Given the description of an element on the screen output the (x, y) to click on. 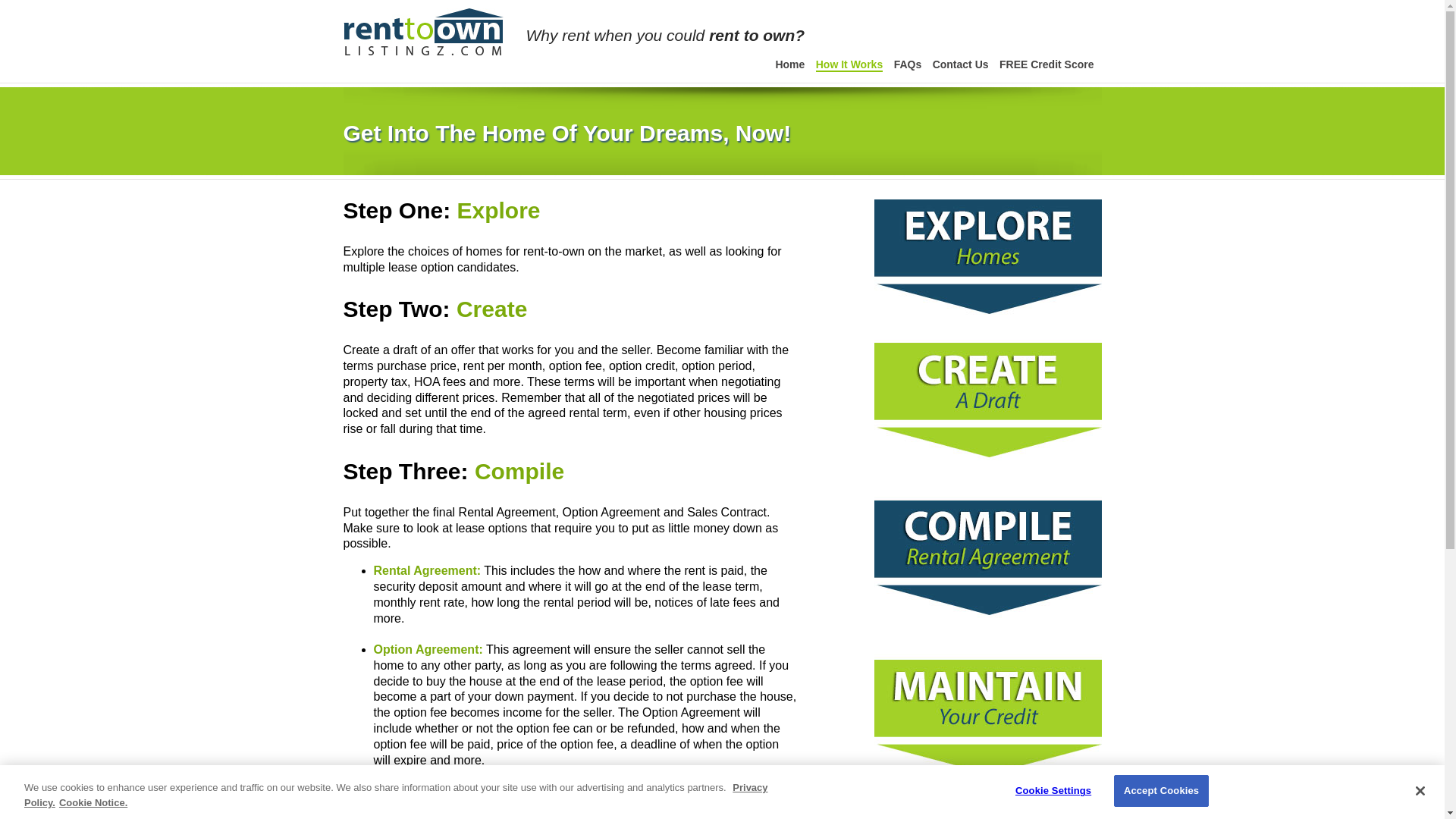
Cookie Notice. (93, 802)
get into the home of your dreams now! (721, 132)
step three (569, 471)
Accept Cookies (1160, 790)
Contact Us (960, 64)
FAQs (907, 64)
FREE Credit Score (1045, 64)
Home (789, 64)
How It Works (848, 65)
step two (569, 308)
